Given the description of an element on the screen output the (x, y) to click on. 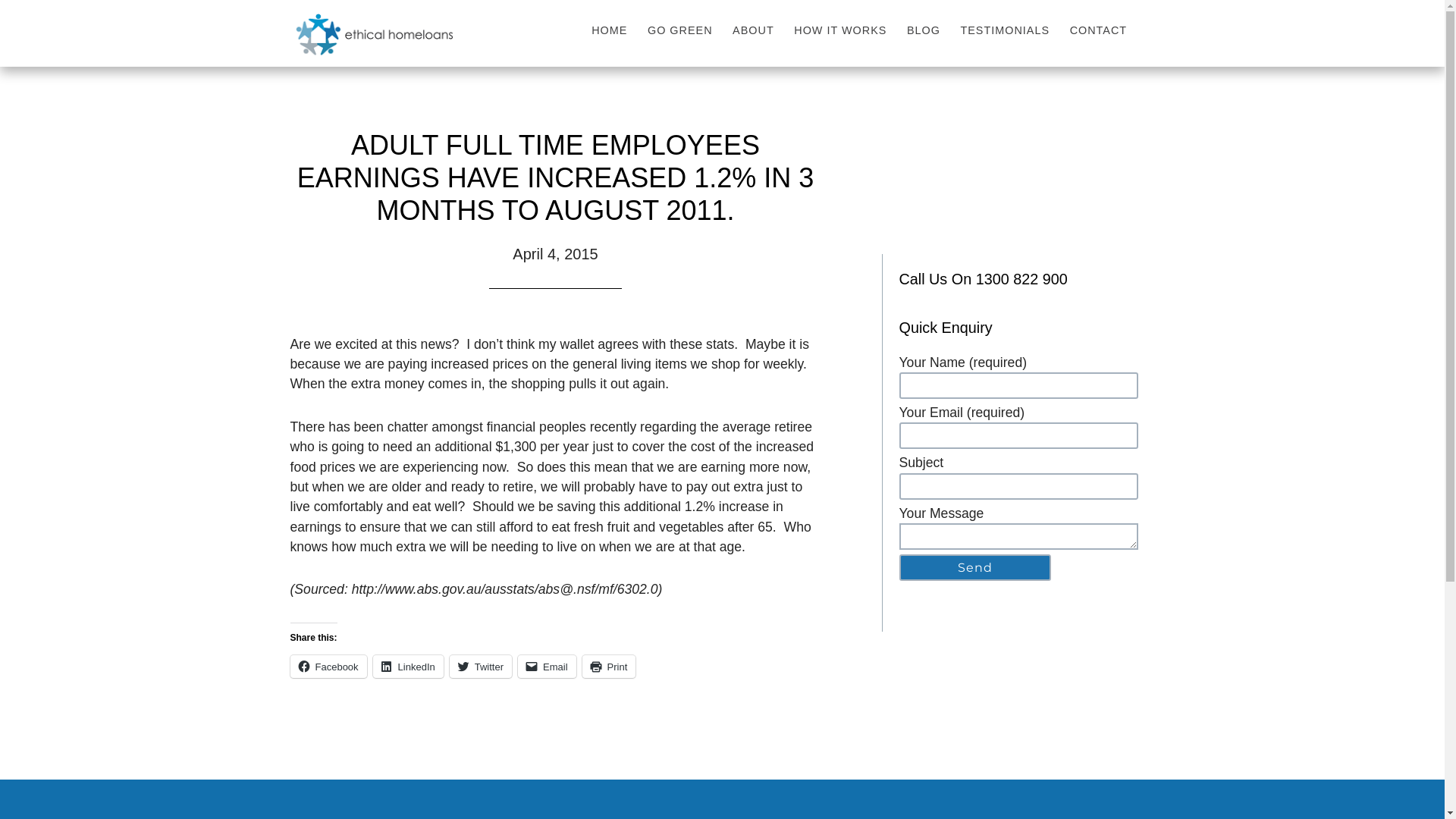
ETHICAL HOMELOANS Element type: text (425, 39)
CONTACT Element type: text (1100, 29)
HOME Element type: text (612, 29)
Twitter Element type: text (480, 666)
ABOUT Element type: text (755, 29)
BLOG Element type: text (926, 29)
GO GREEN Element type: text (682, 29)
Email Element type: text (546, 666)
TESTIMONIALS Element type: text (1007, 29)
Send Element type: text (975, 567)
LinkedIn Element type: text (408, 666)
HOW IT WORKS Element type: text (842, 29)
Facebook Element type: text (327, 666)
Print Element type: text (609, 666)
